Given the description of an element on the screen output the (x, y) to click on. 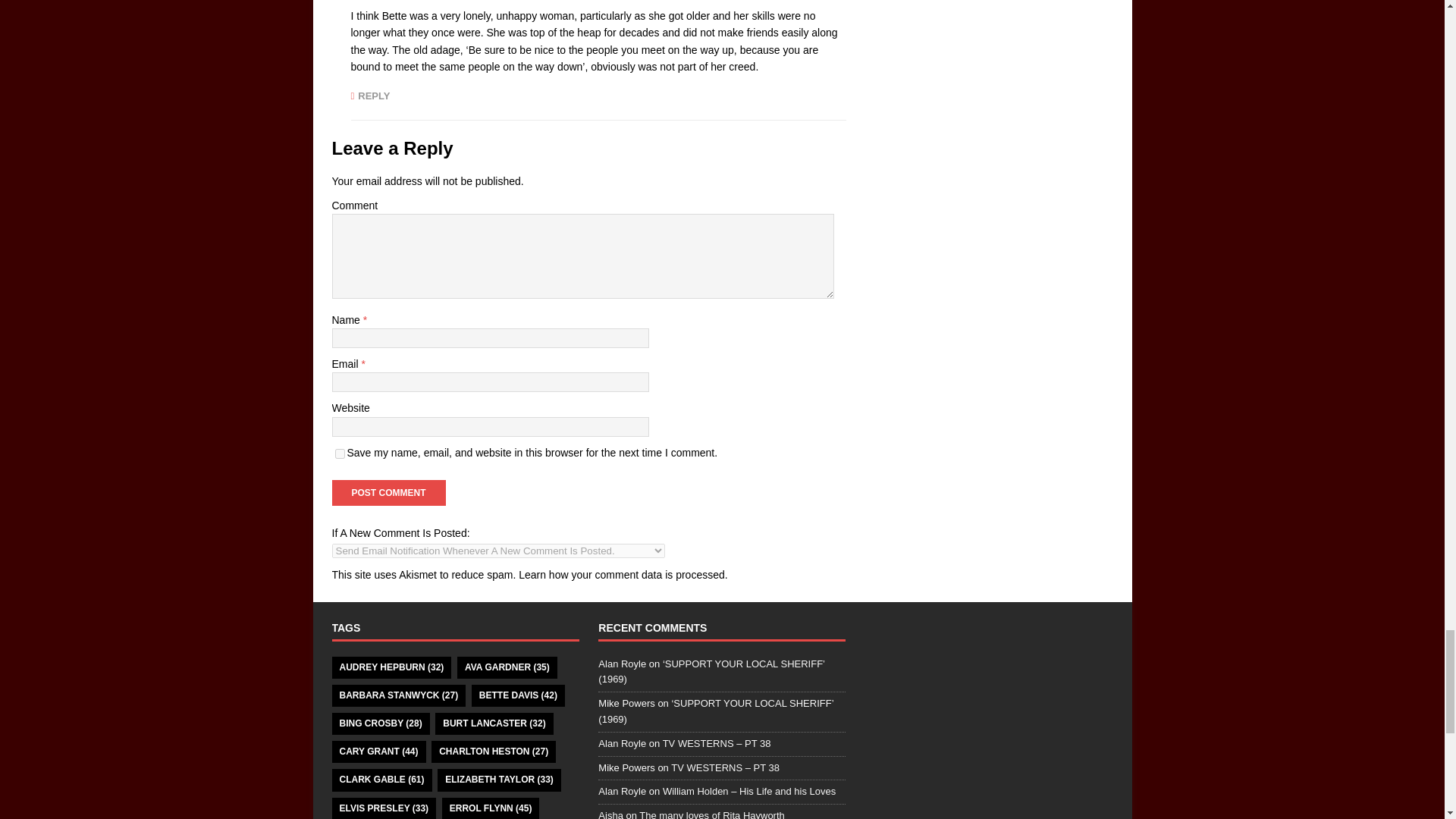
yes (339, 453)
Post Comment (388, 492)
